Given the description of an element on the screen output the (x, y) to click on. 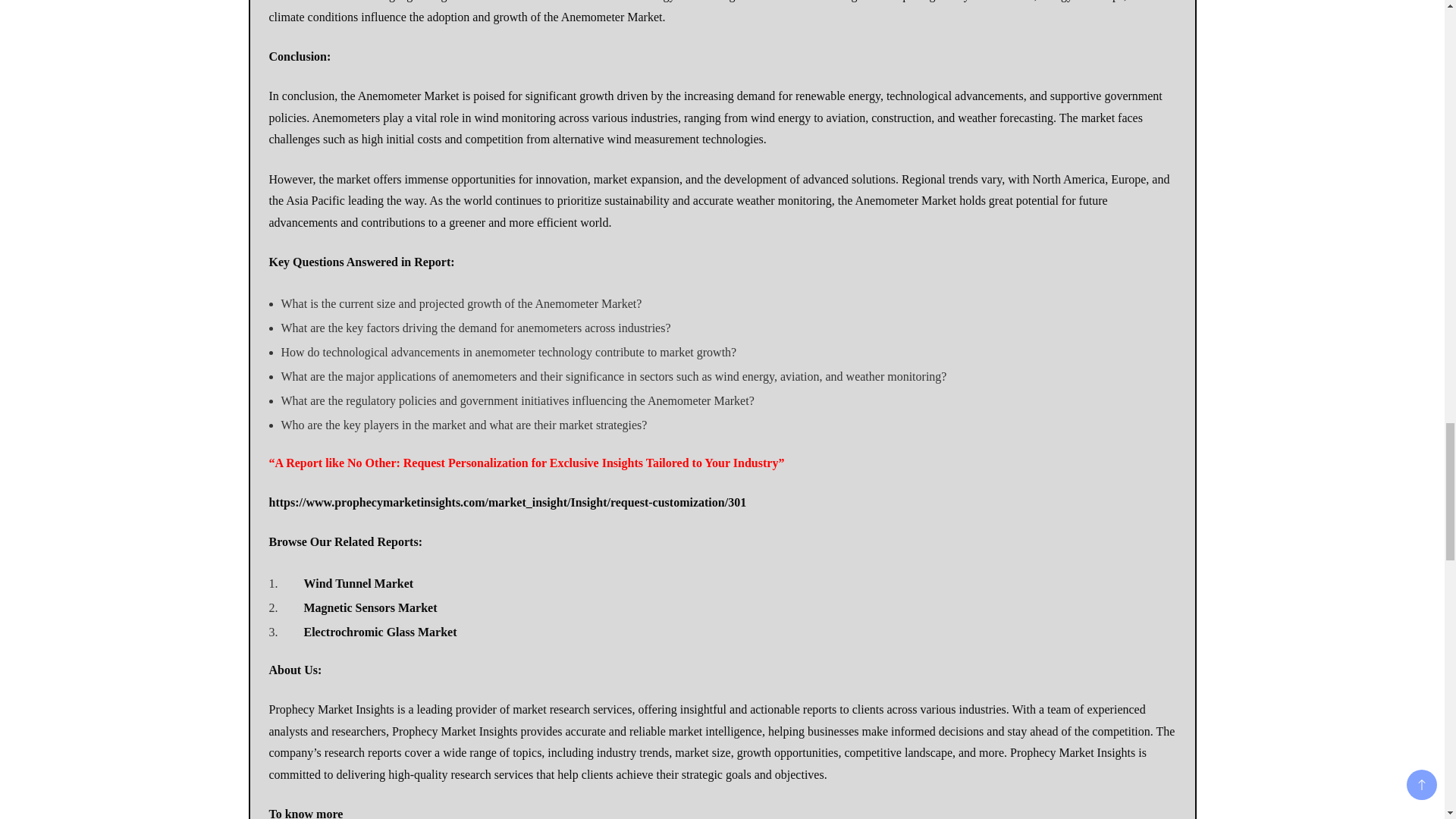
Magnetic Sensors Market (369, 607)
Electrochromic Glass Market (379, 631)
Wind Tunnel Market (357, 583)
